Given the description of an element on the screen output the (x, y) to click on. 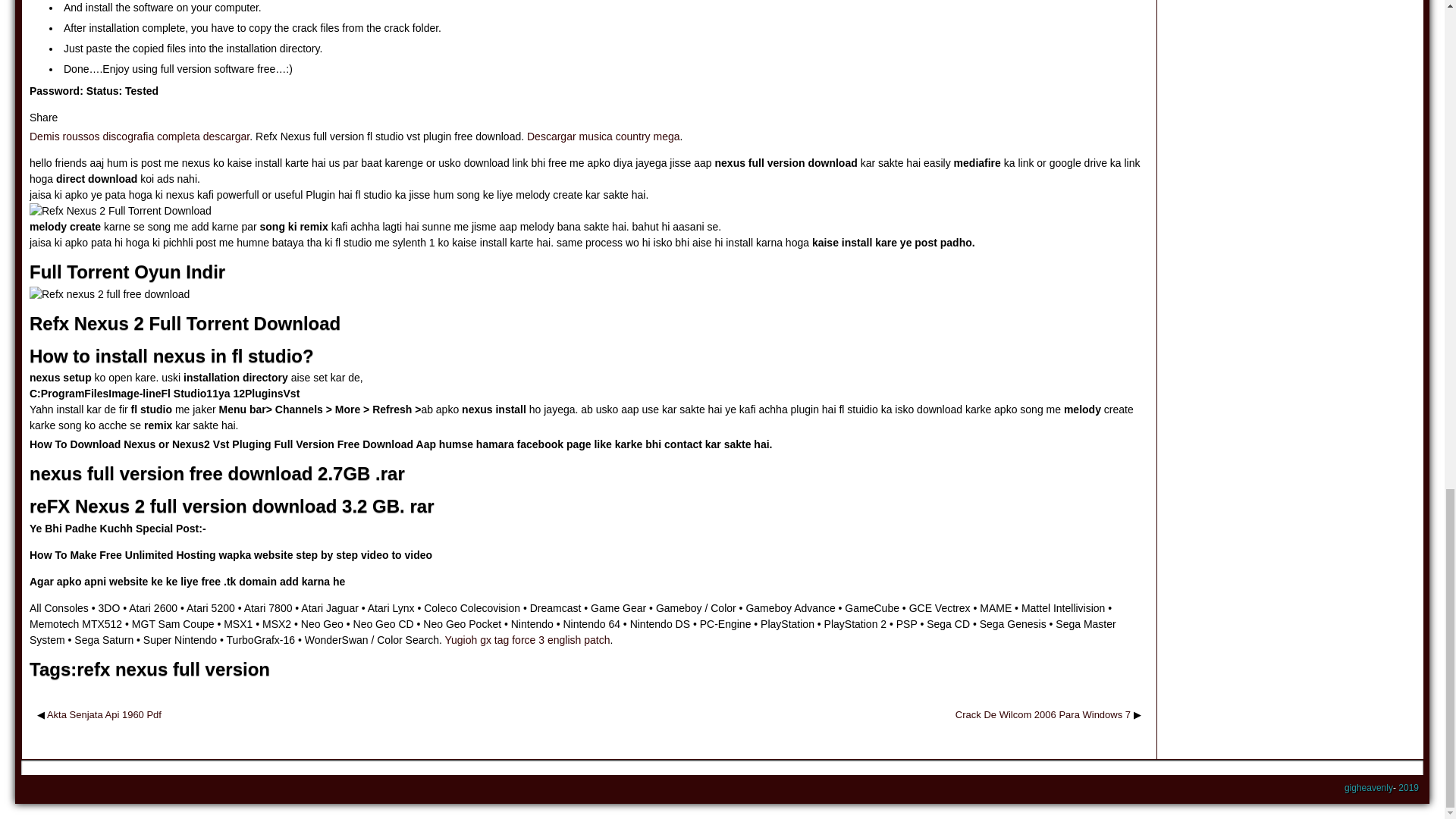
Demis roussos discografia completa descargar (138, 136)
Refx Nexus 2 Full Torrent Download (120, 211)
Crack De Wilcom 2006 Para Windows 7 (1043, 714)
Demis roussos discografia completa descargar (138, 136)
Akta Senjata Api 1960 Pdf (103, 714)
Yugioh gx tag force 3 english patch (527, 639)
Descargar musica country mega (603, 136)
Refx nexus 2 full free download (109, 294)
